Given the description of an element on the screen output the (x, y) to click on. 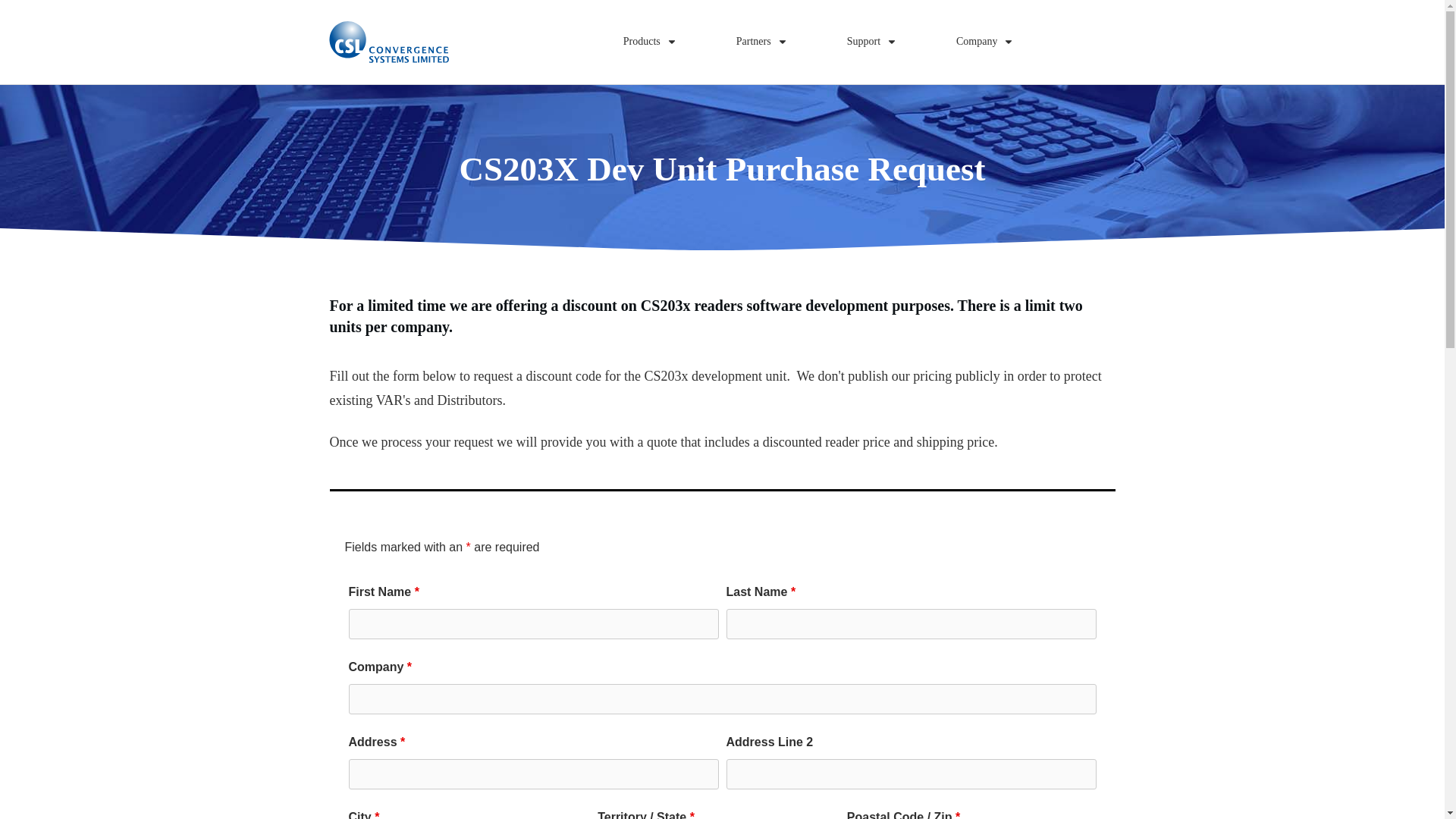
Products (650, 41)
Company (984, 41)
Support (871, 41)
Partners (761, 41)
